Given the description of an element on the screen output the (x, y) to click on. 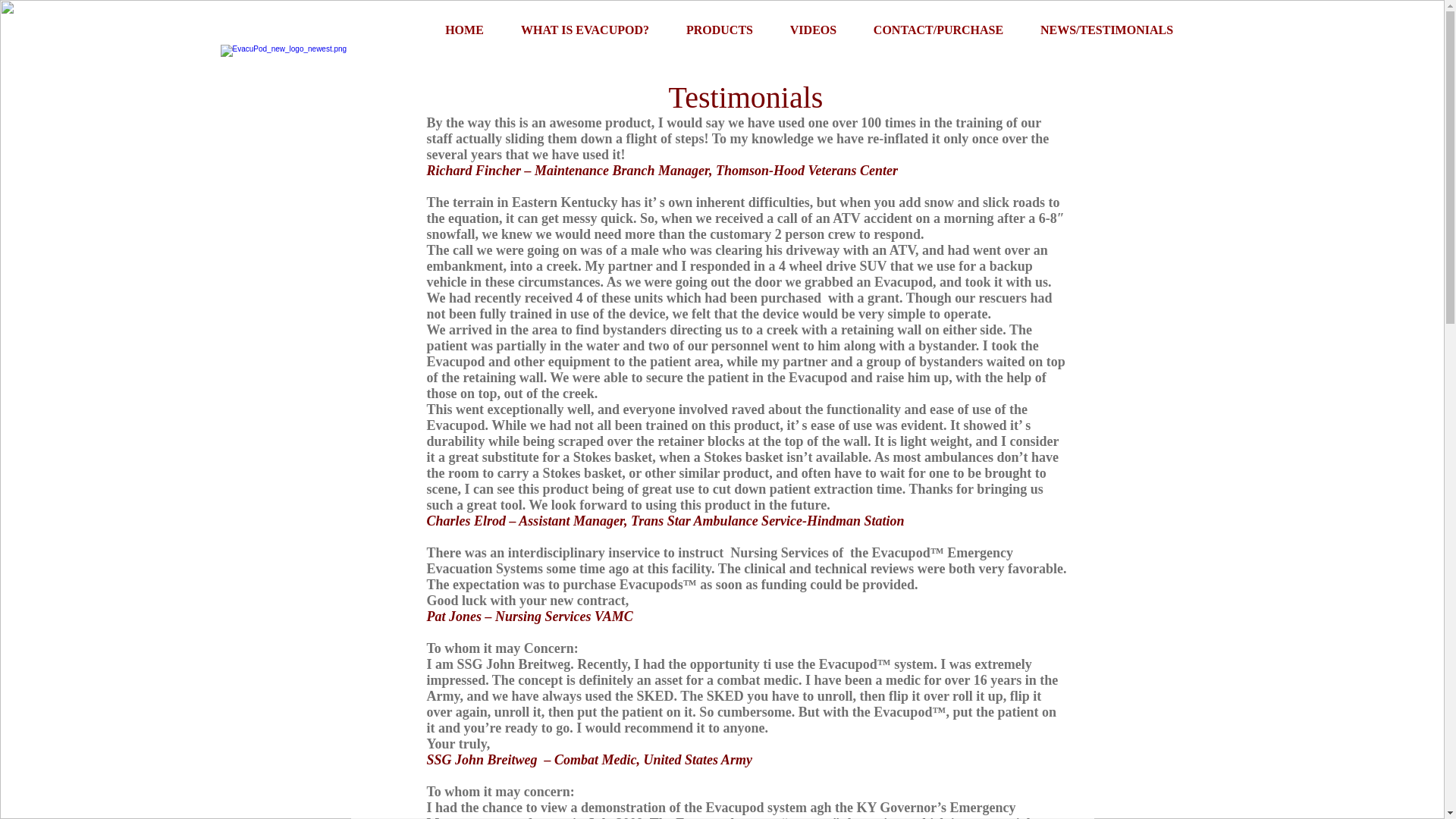
WHAT IS EVACUPOD? (584, 30)
HOME (464, 30)
VIDEOS (813, 30)
PRODUCTS (718, 30)
